Given the description of an element on the screen output the (x, y) to click on. 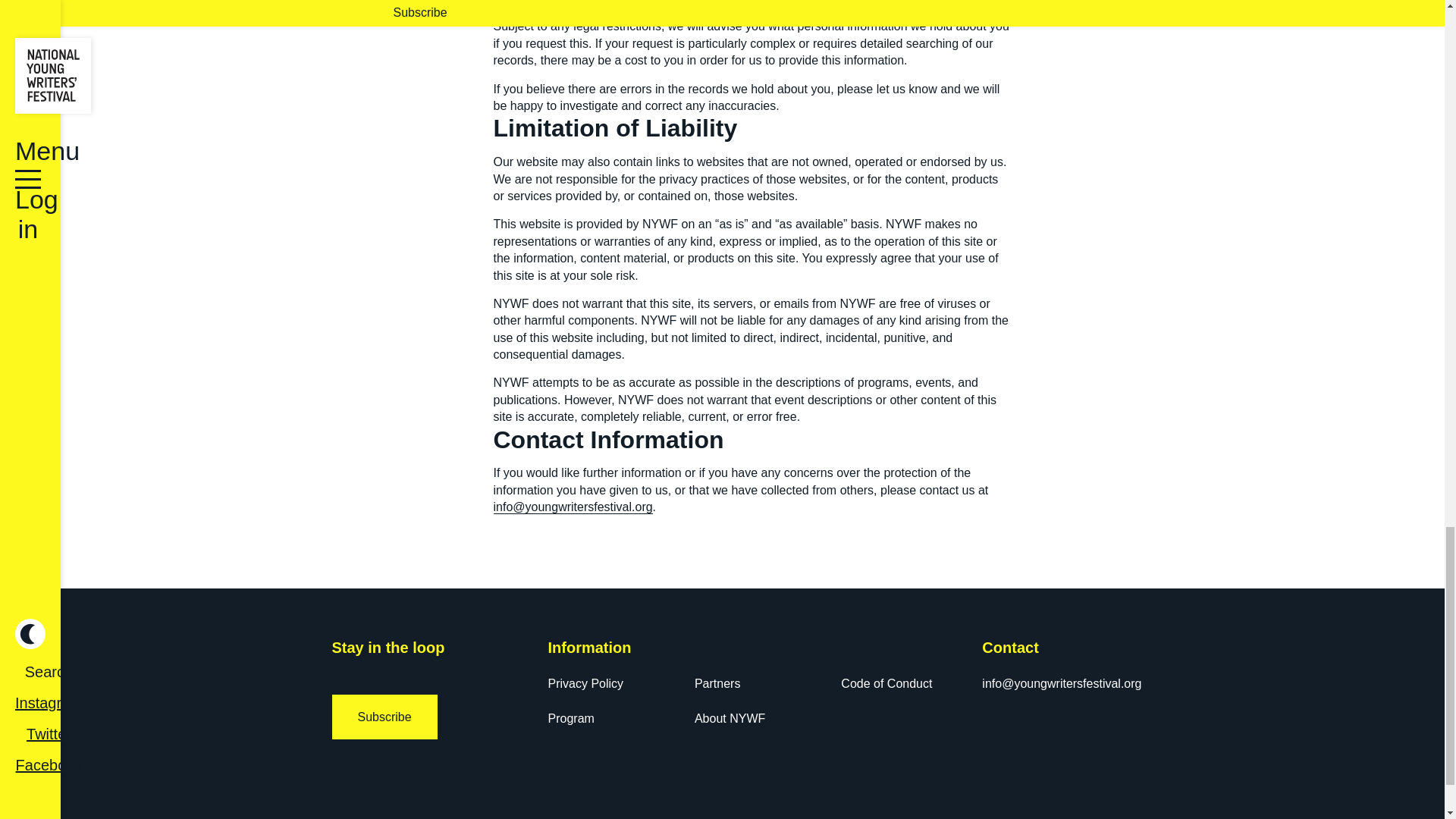
Program (570, 717)
Partners (716, 683)
Privacy Policy (585, 683)
About NYWF (729, 717)
Subscribe (384, 716)
Code of Conduct (886, 683)
